Given the description of an element on the screen output the (x, y) to click on. 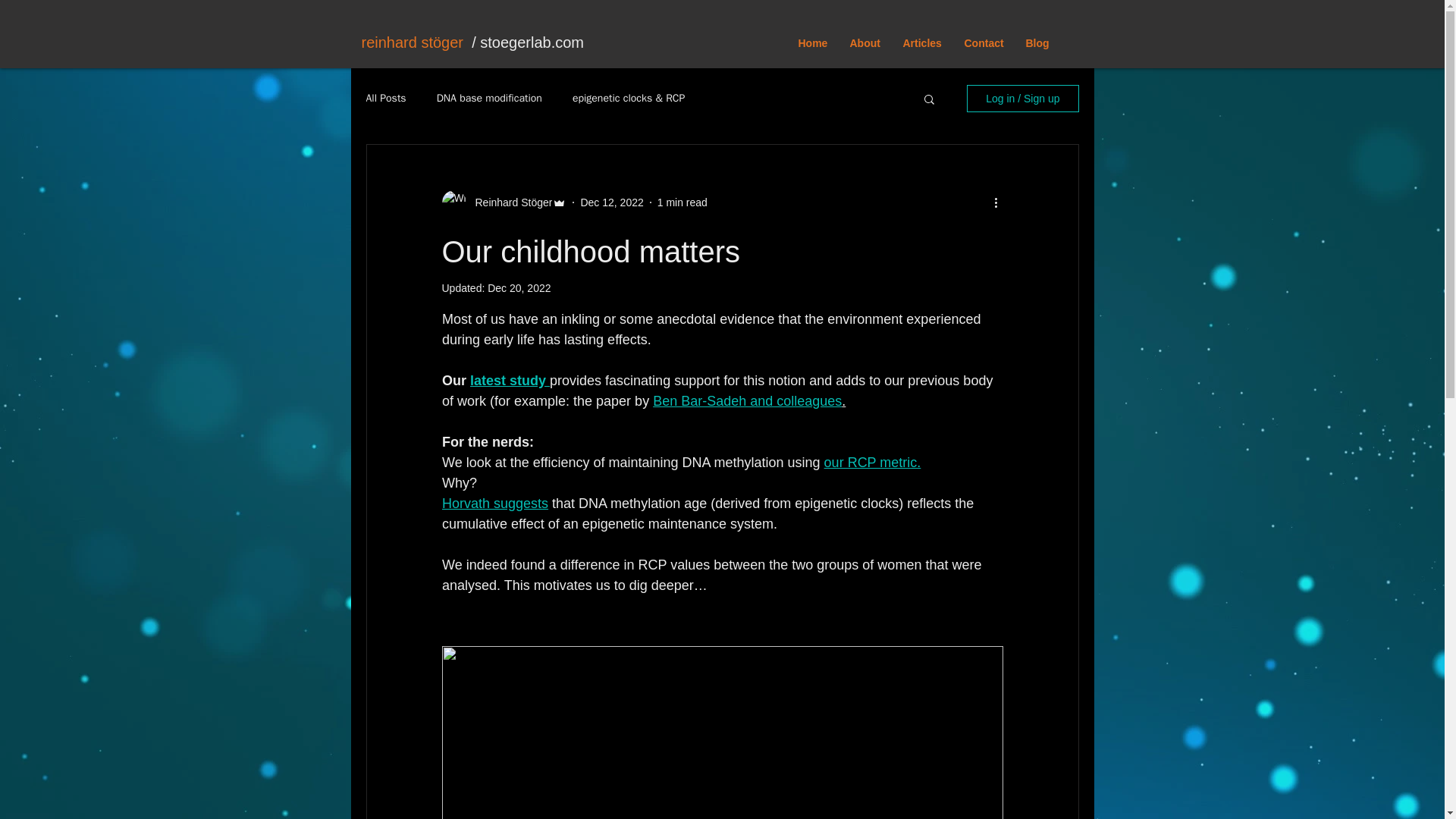
1 min read (682, 201)
Horvath suggests (494, 503)
Home (812, 43)
Dec 20, 2022 (518, 287)
Blog (1036, 43)
Contact (982, 43)
our RCP metric. (872, 462)
All Posts (385, 98)
Ben Bar-Sadeh and colleagues (746, 400)
latest study  (510, 380)
DNA base modification (488, 98)
About (864, 43)
Dec 12, 2022 (611, 201)
Articles (922, 43)
